Given the description of an element on the screen output the (x, y) to click on. 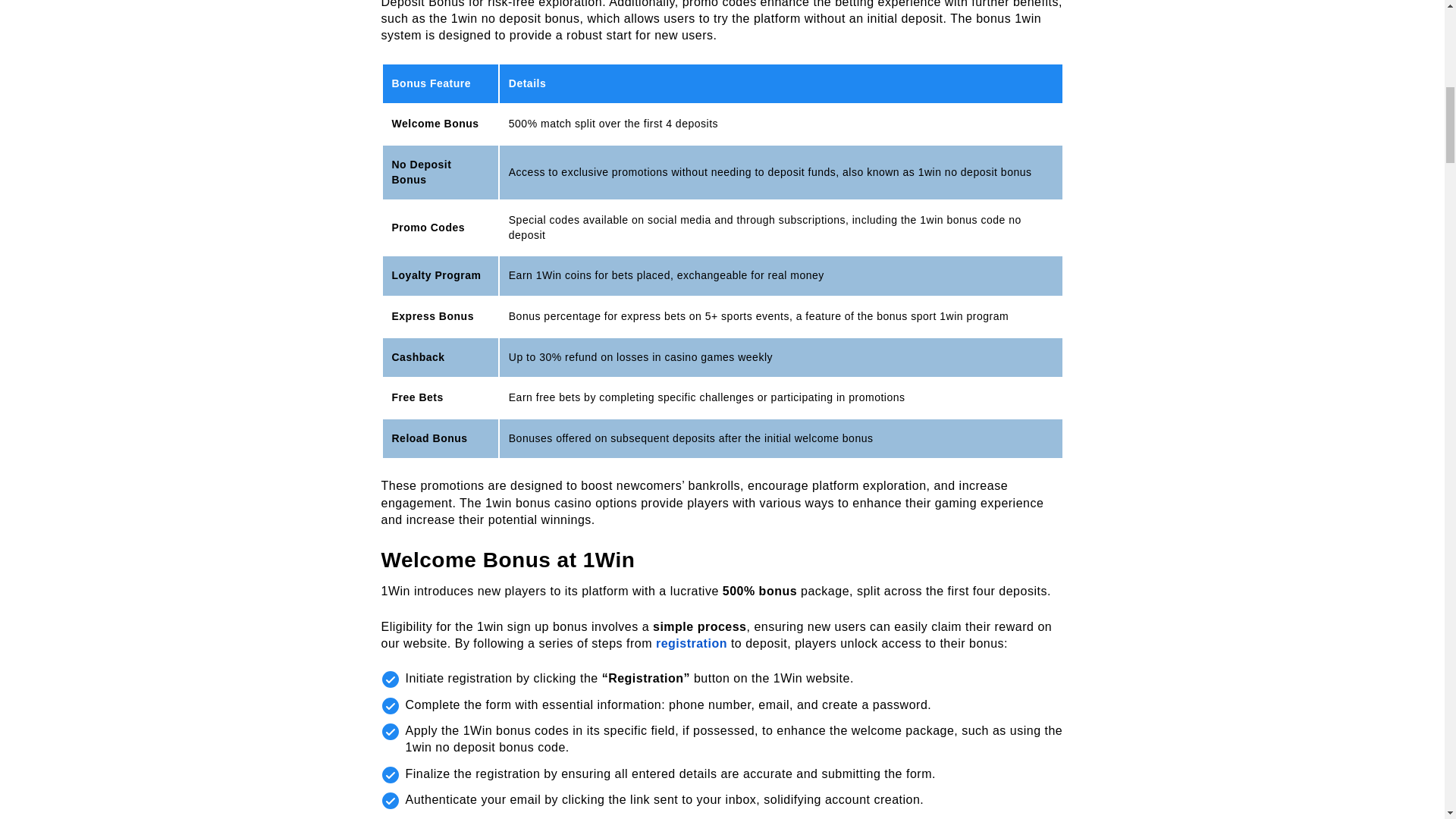
registration (691, 643)
